Given the description of an element on the screen output the (x, y) to click on. 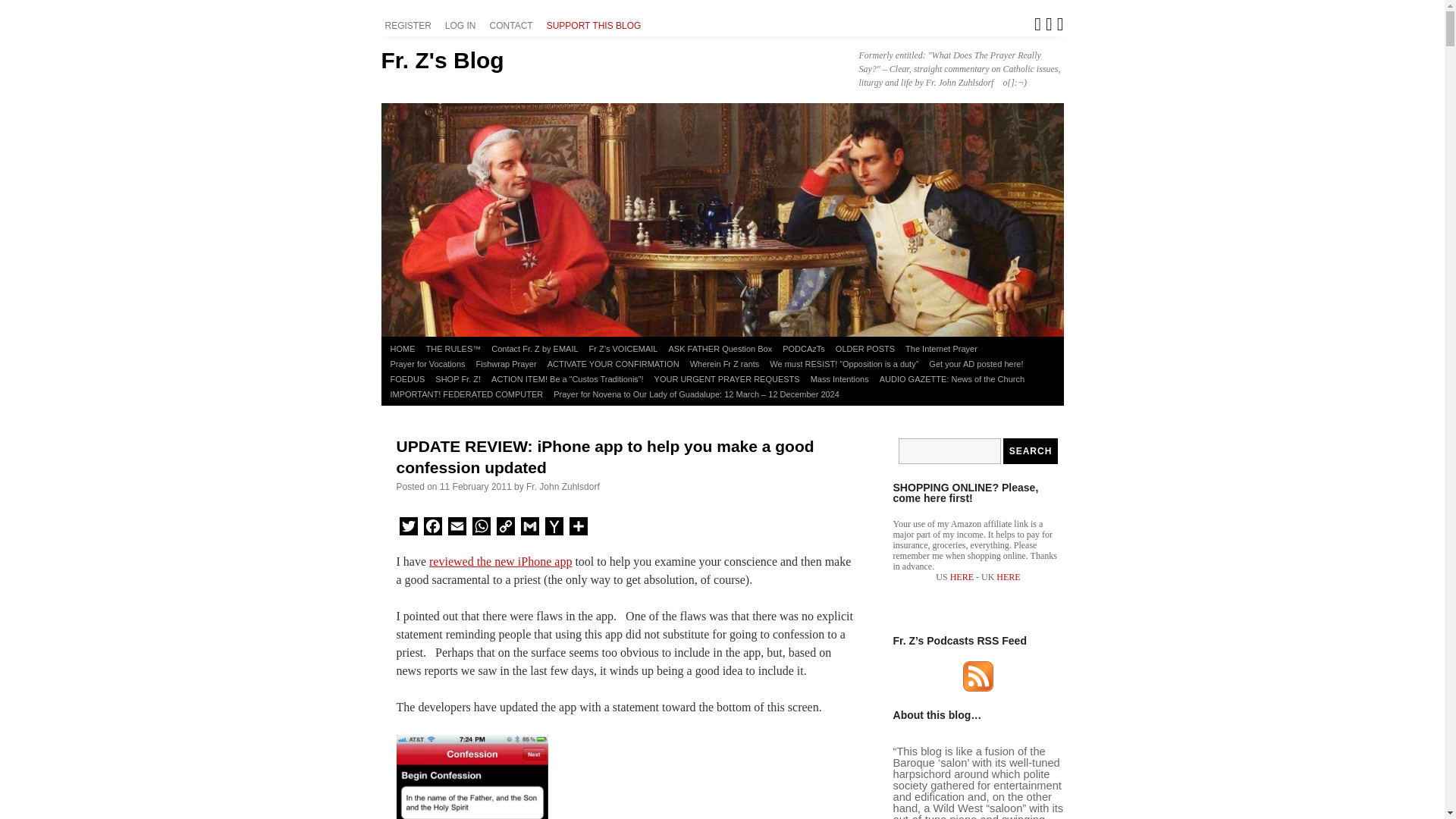
Facebook (432, 528)
IMPORTANT! FEDERATED COMPUTER (466, 394)
CONTACT (513, 25)
View all posts by Fr. John Zuhlsdorf (562, 486)
2:09 AM (475, 486)
SUPPORT THIS BLOG (596, 25)
Yahoo Mail (553, 528)
Search (1030, 451)
Get your AD posted here! (975, 363)
LOG IN (462, 25)
